Given the description of an element on the screen output the (x, y) to click on. 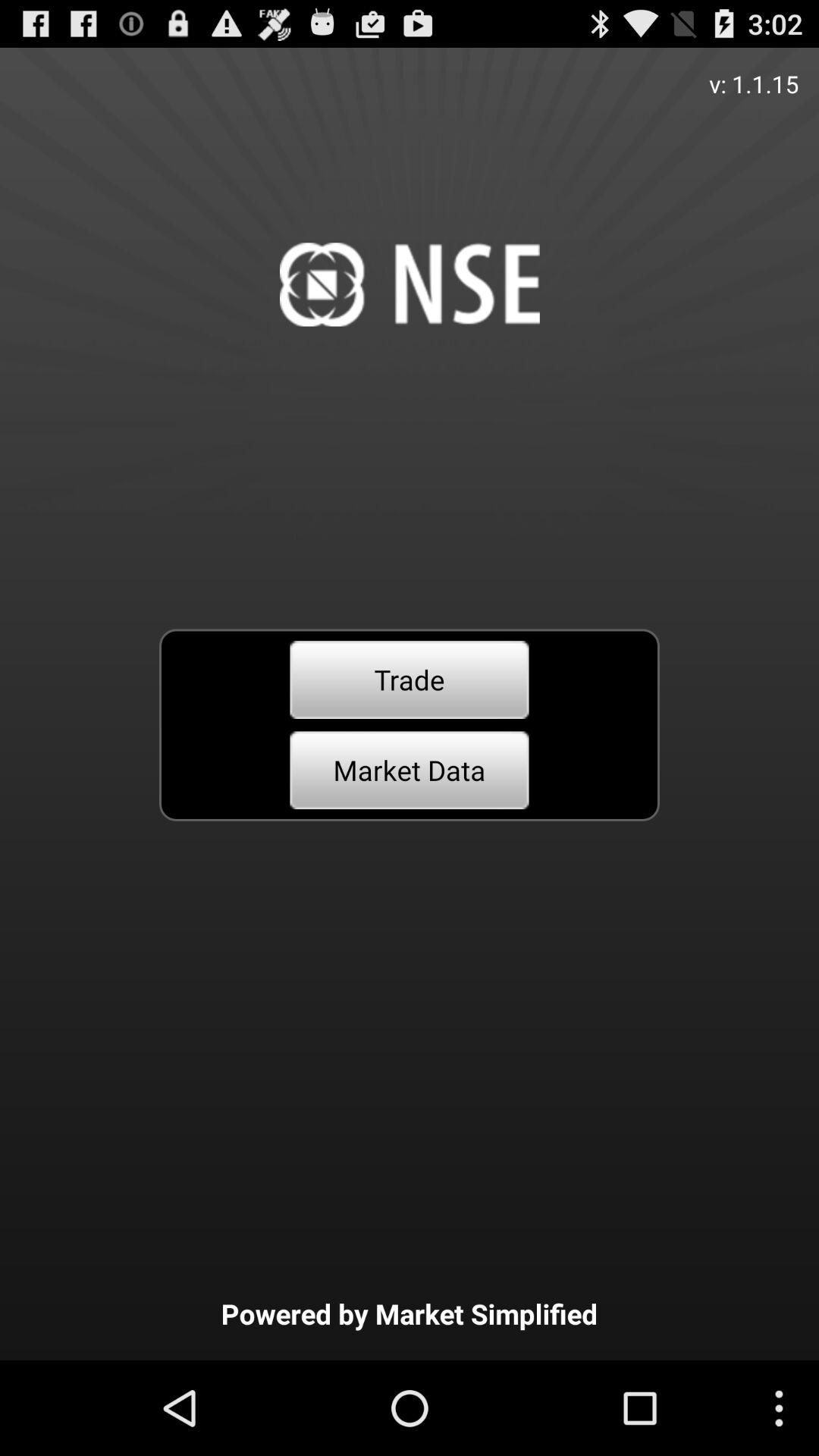
flip until the trade item (409, 679)
